Given the description of an element on the screen output the (x, y) to click on. 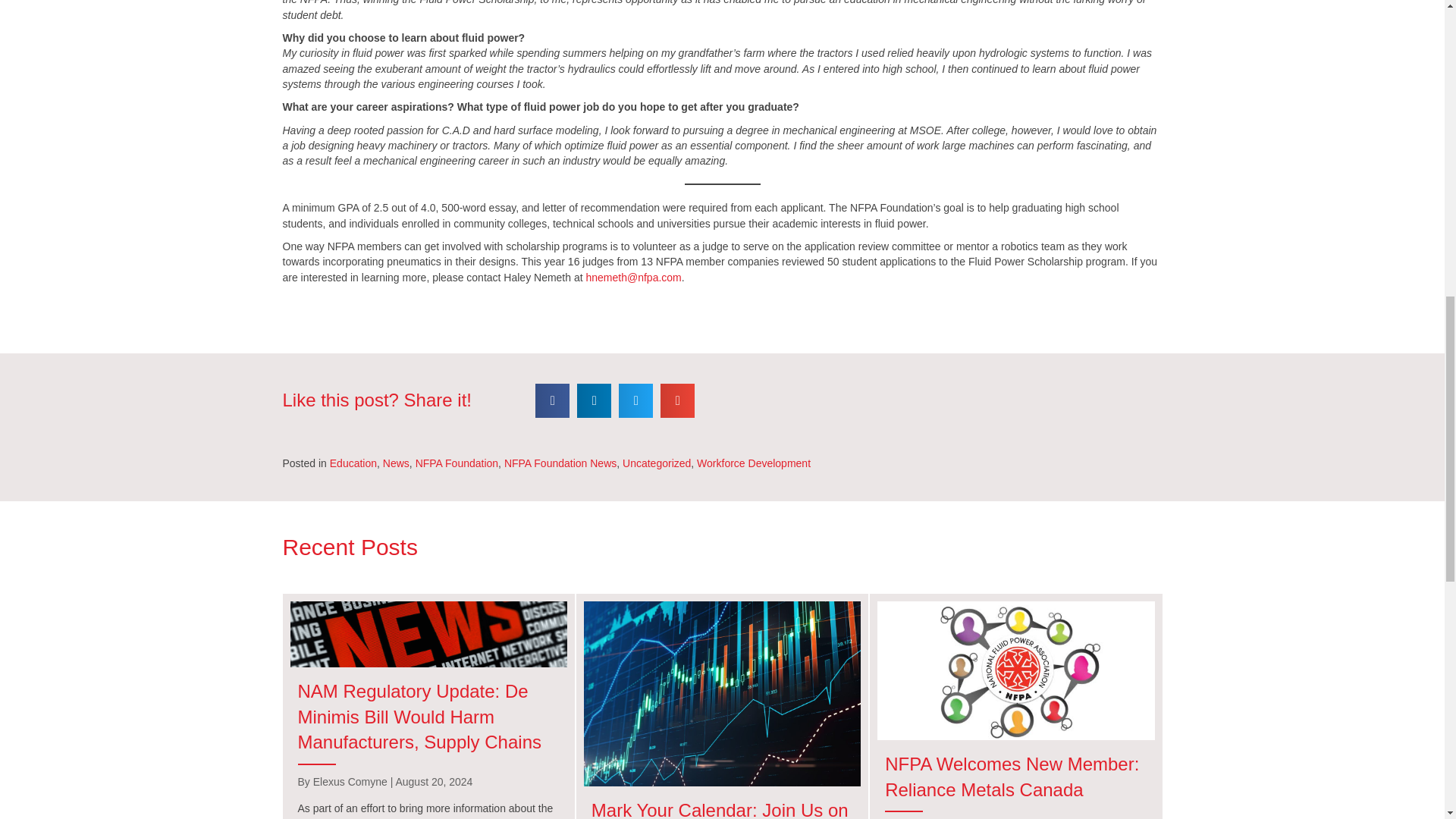
Membership (1015, 670)
News (427, 634)
NFPA Welcomes New Member: Reliance Metals Canada (1011, 776)
